Given the description of an element on the screen output the (x, y) to click on. 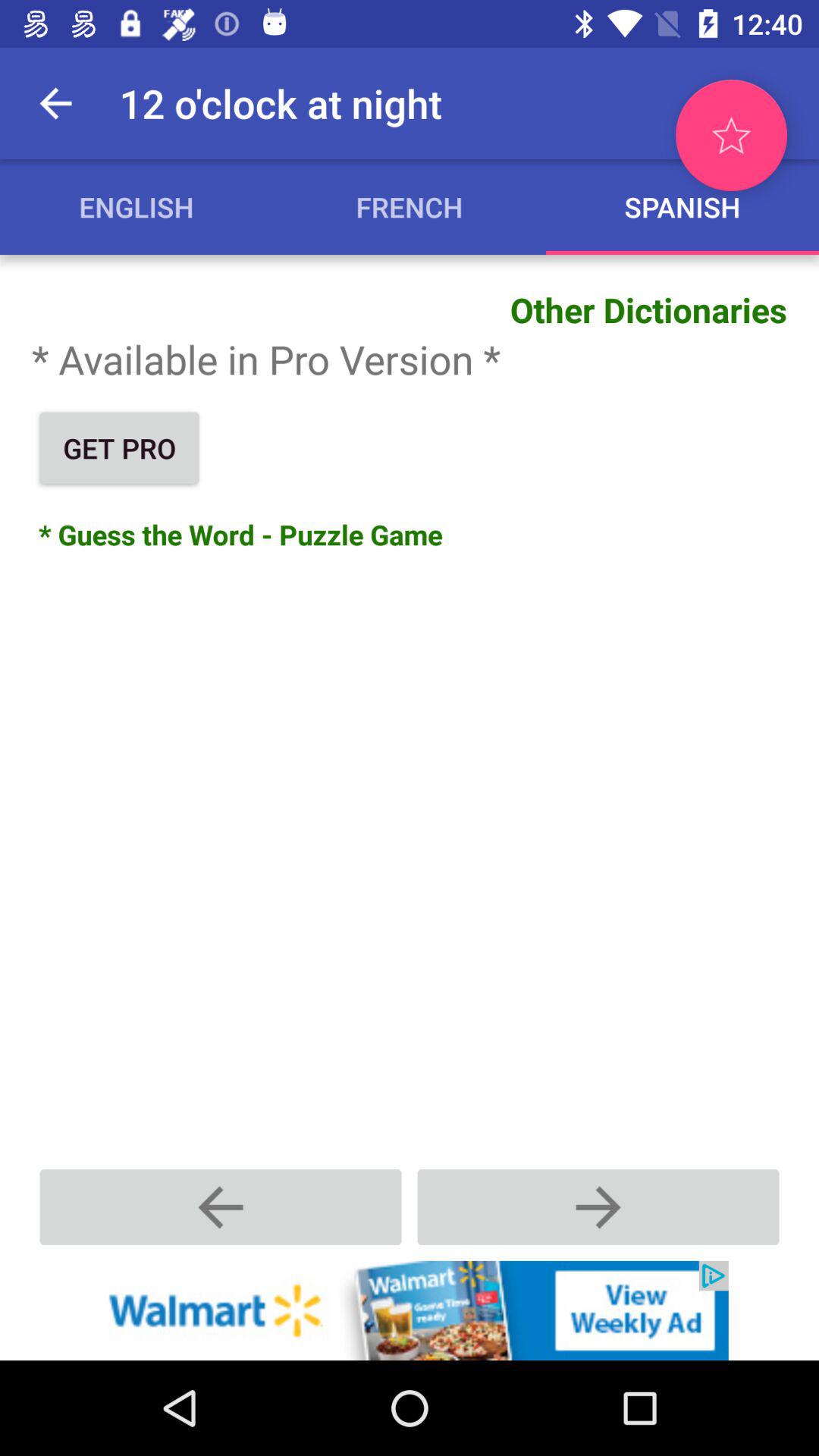
go to advertisement website (409, 1310)
